Given the description of an element on the screen output the (x, y) to click on. 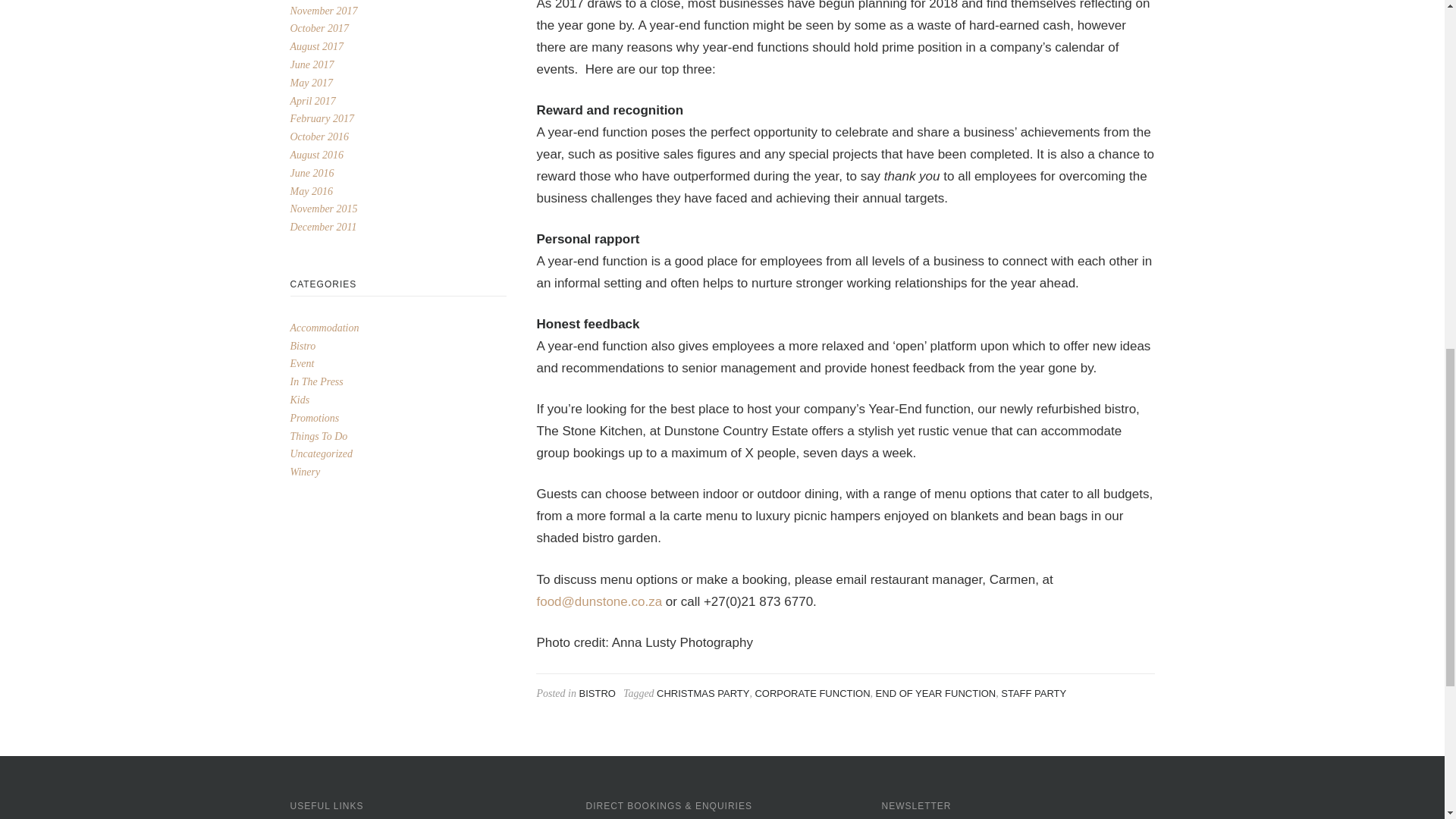
BISTRO (596, 693)
END OF YEAR FUNCTION (935, 693)
CHRISTMAS PARTY (702, 693)
STAFF PARTY (1033, 693)
CORPORATE FUNCTION (811, 693)
